Given the description of an element on the screen output the (x, y) to click on. 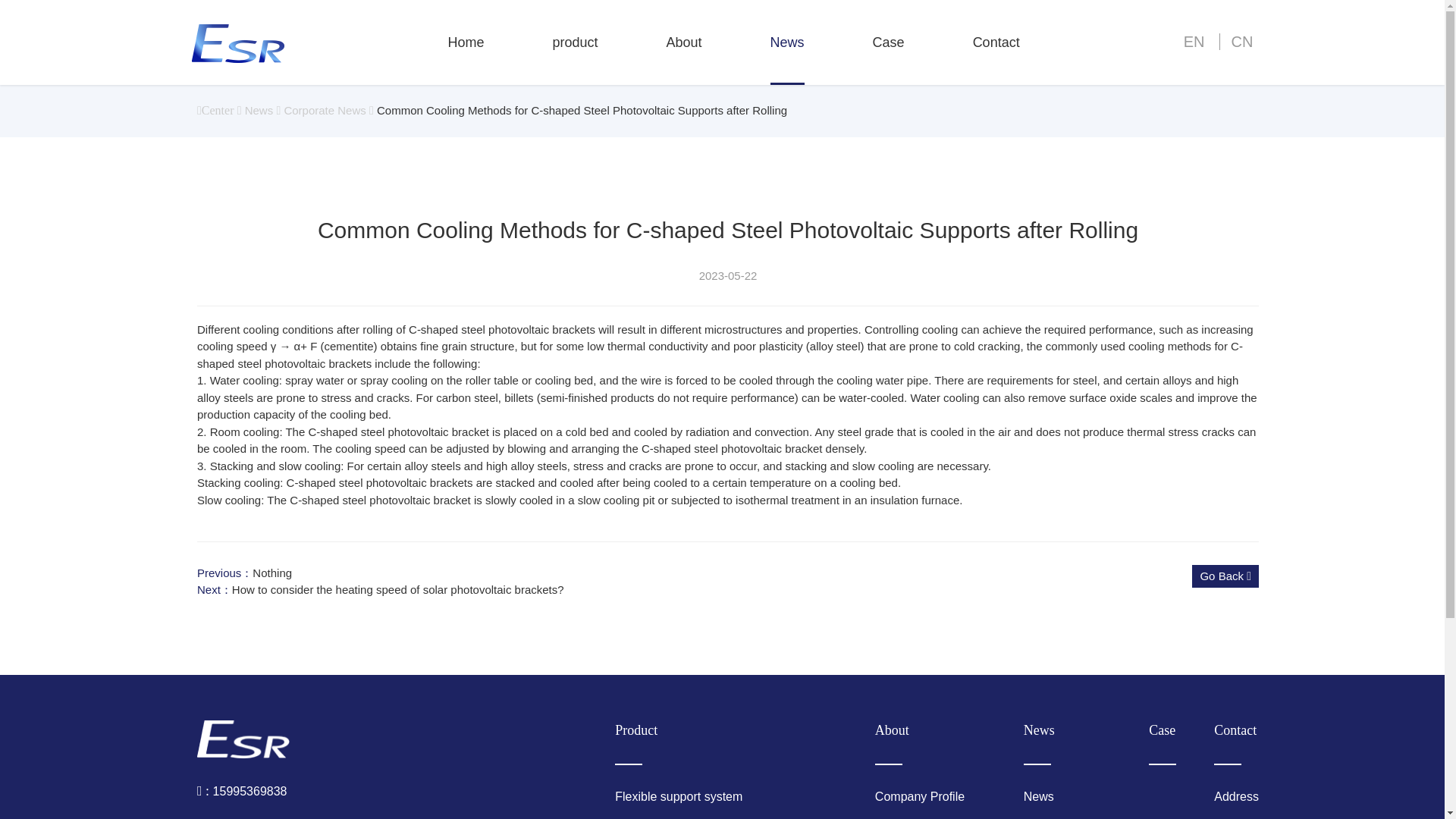
Center (215, 110)
15995369838 (241, 790)
Flexible support system (725, 796)
CN (1236, 41)
EN (1194, 41)
About (930, 742)
News (258, 110)
Corporate News (324, 110)
Go Back (1225, 575)
Product (725, 742)
Company Profile (930, 796)
